Given the description of an element on the screen output the (x, y) to click on. 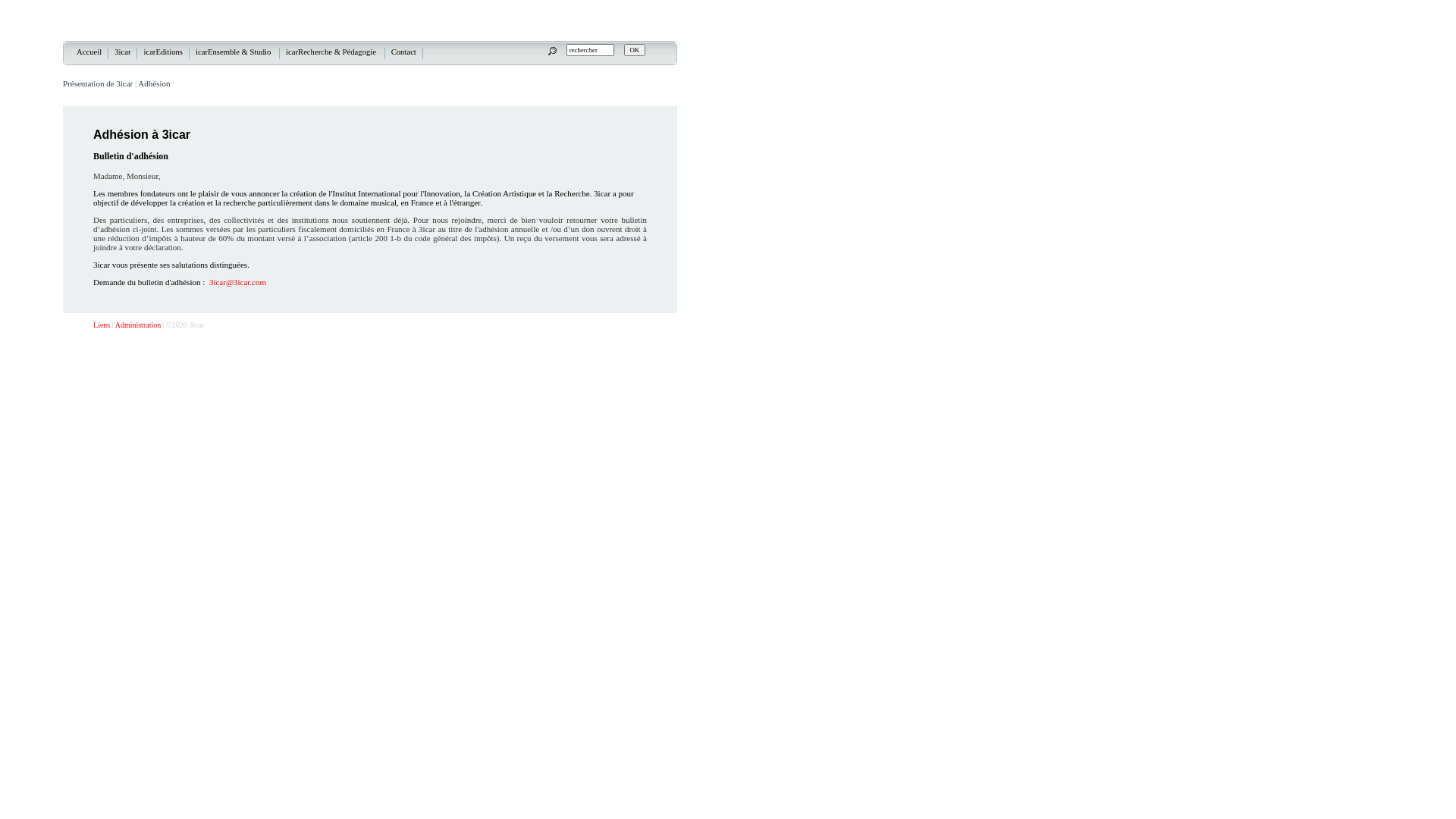
3icar Element type: text (122, 52)
Liens Element type: text (101, 324)
Accueil Element type: text (89, 52)
Advertisement Element type: hover (742, 295)
icarEnsemble & Studio Element type: text (234, 52)
icarEditions Element type: text (163, 52)
3icar@3icar.com Element type: text (237, 281)
Contact Element type: text (404, 52)
OK Element type: text (634, 49)
Administration Element type: text (138, 324)
rechercher Element type: text (590, 49)
